Given the description of an element on the screen output the (x, y) to click on. 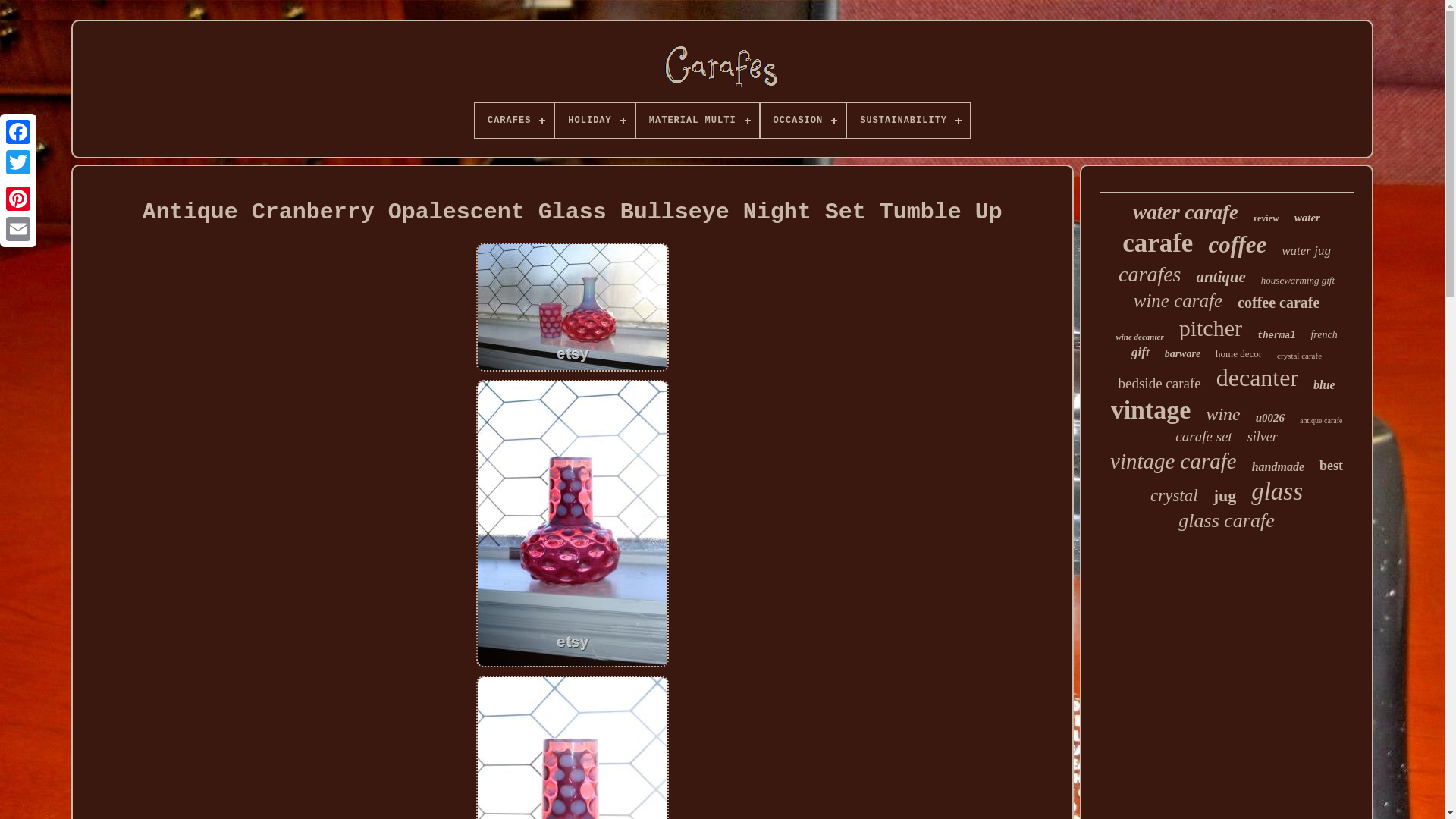
MATERIAL MULTI (697, 120)
CARAFES (513, 120)
HOLIDAY (593, 120)
